Given the description of an element on the screen output the (x, y) to click on. 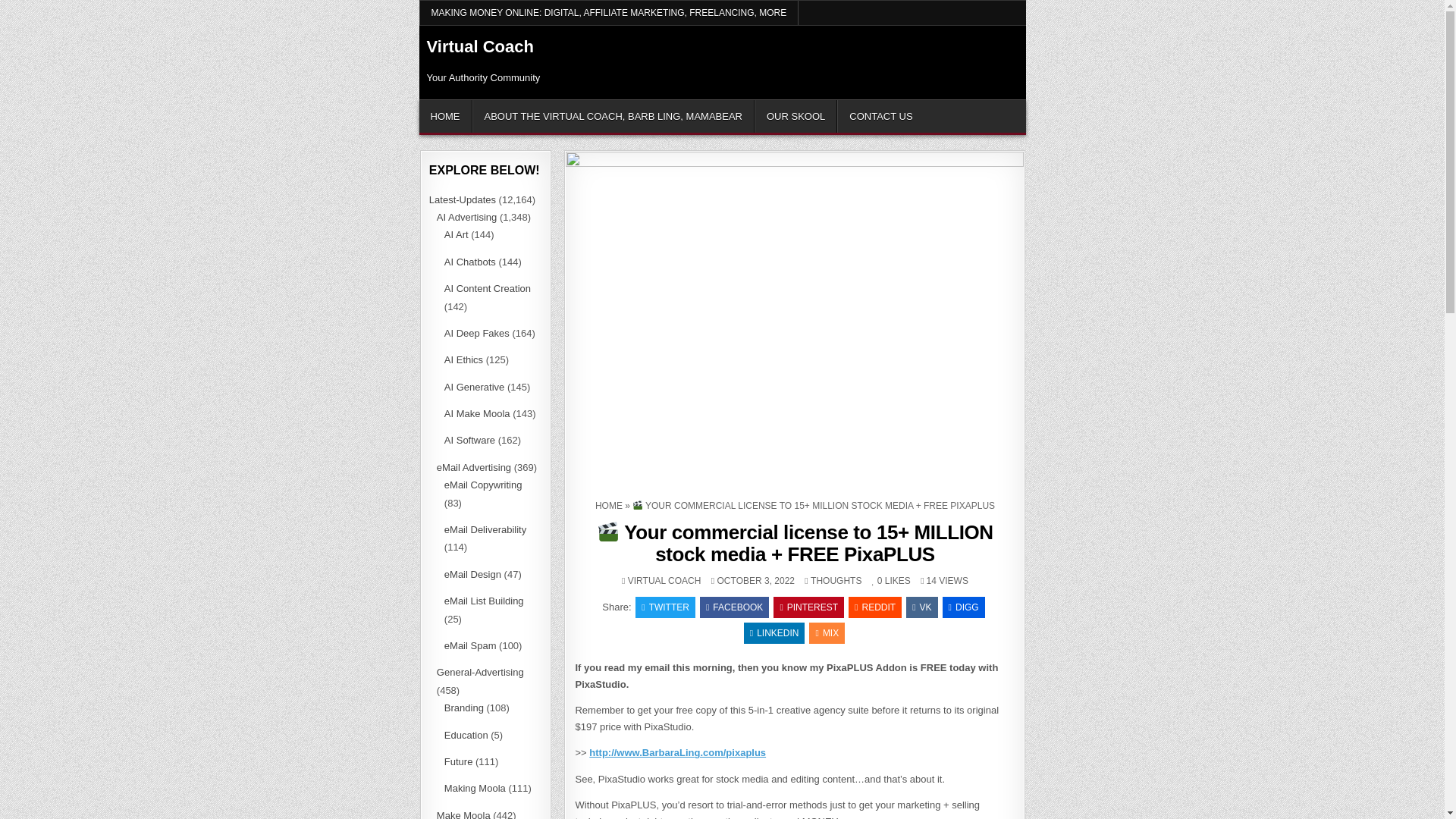
0 (877, 580)
ABOUT THE VIRTUAL COACH, BARB LING, MAMABEAR (612, 115)
Share this on Reddit (874, 607)
Share this on Pinterest (808, 607)
VIRTUAL COACH (664, 580)
TWITTER (664, 607)
Tweet This! (664, 607)
OUR SKOOL (795, 115)
Share this on Linkedin (774, 632)
MIX (826, 632)
REDDIT (874, 607)
LINKEDIN (774, 632)
THOUGHTS (835, 580)
DIGG (963, 607)
CONTACT US (880, 115)
